Given the description of an element on the screen output the (x, y) to click on. 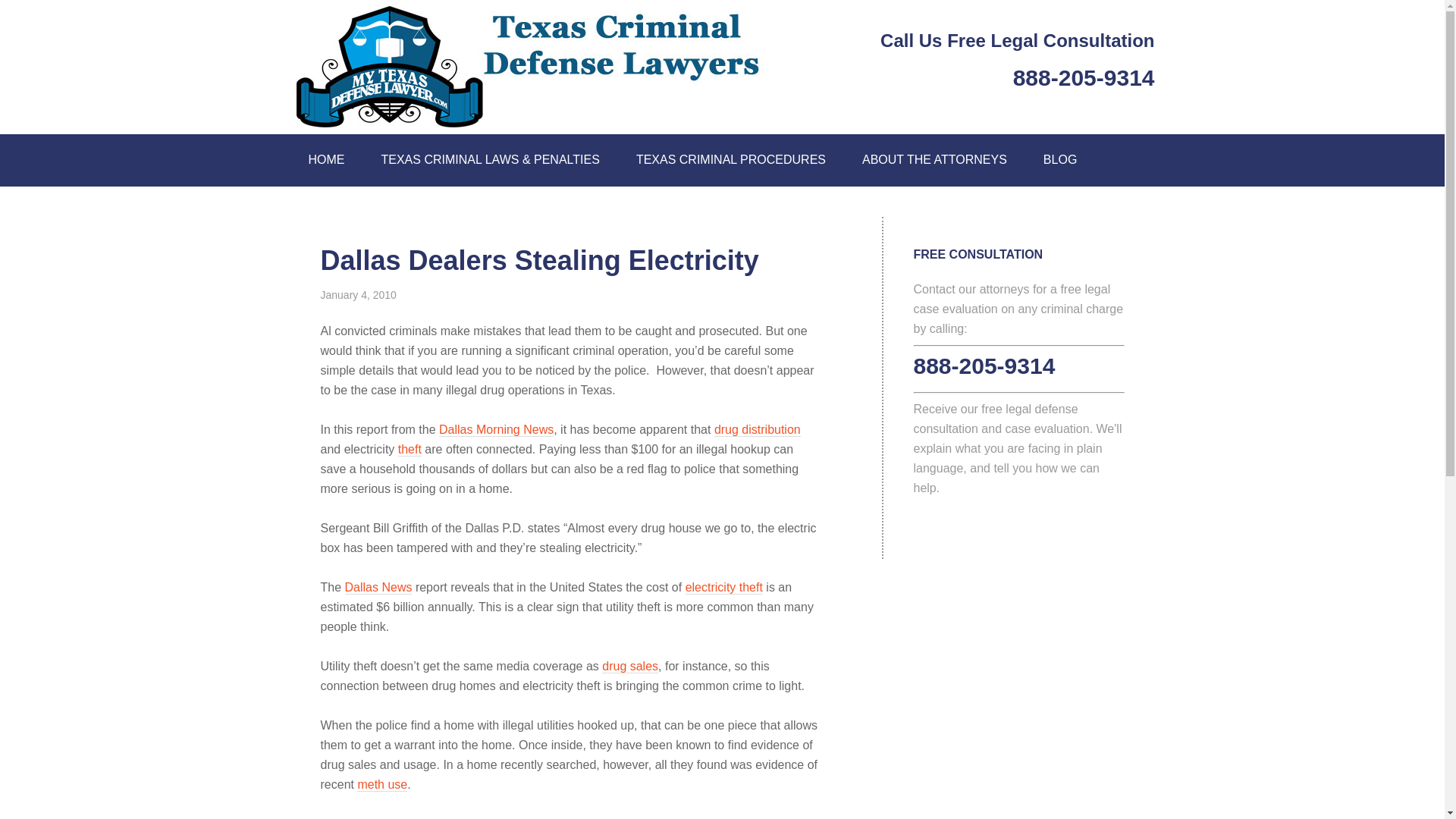
TEXAS CRIMINAL DEFENSE LAWYERS (555, 62)
drug sales (630, 666)
BLOG (1059, 160)
drug distribution (757, 429)
Dallas News (378, 587)
Dallas Morning News (496, 429)
theft (409, 449)
TEXAS CRIMINAL PROCEDURES (730, 160)
HOME (325, 160)
electricity theft (723, 587)
